Given the description of an element on the screen output the (x, y) to click on. 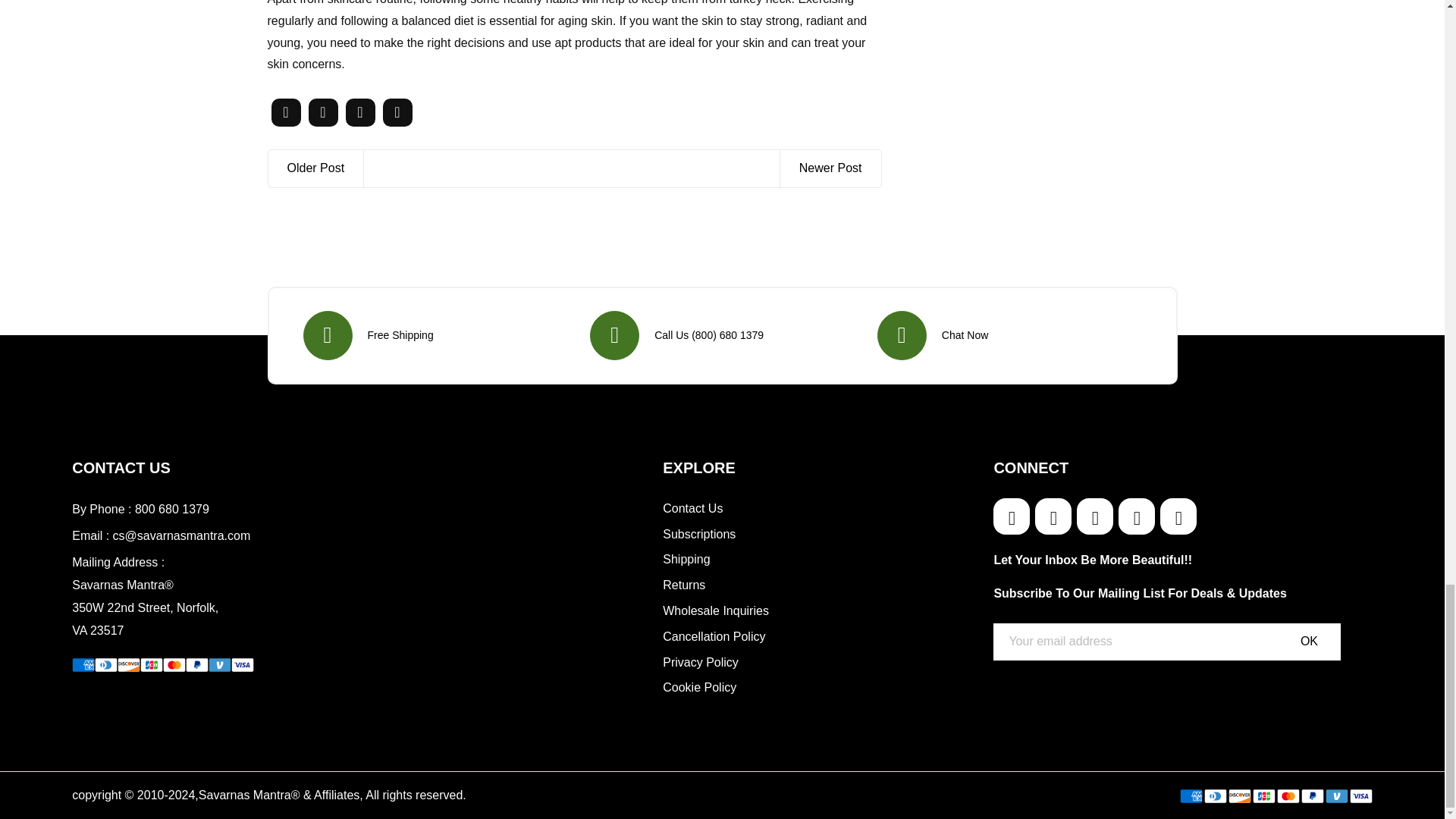
Twitter (1010, 515)
Visa (242, 664)
Mastercard (174, 664)
Venmo (1336, 795)
American Express (82, 664)
YouTube (1178, 515)
American Express (1190, 795)
JCB (151, 664)
Discover (1239, 795)
Diners Club (105, 664)
